Given the description of an element on the screen output the (x, y) to click on. 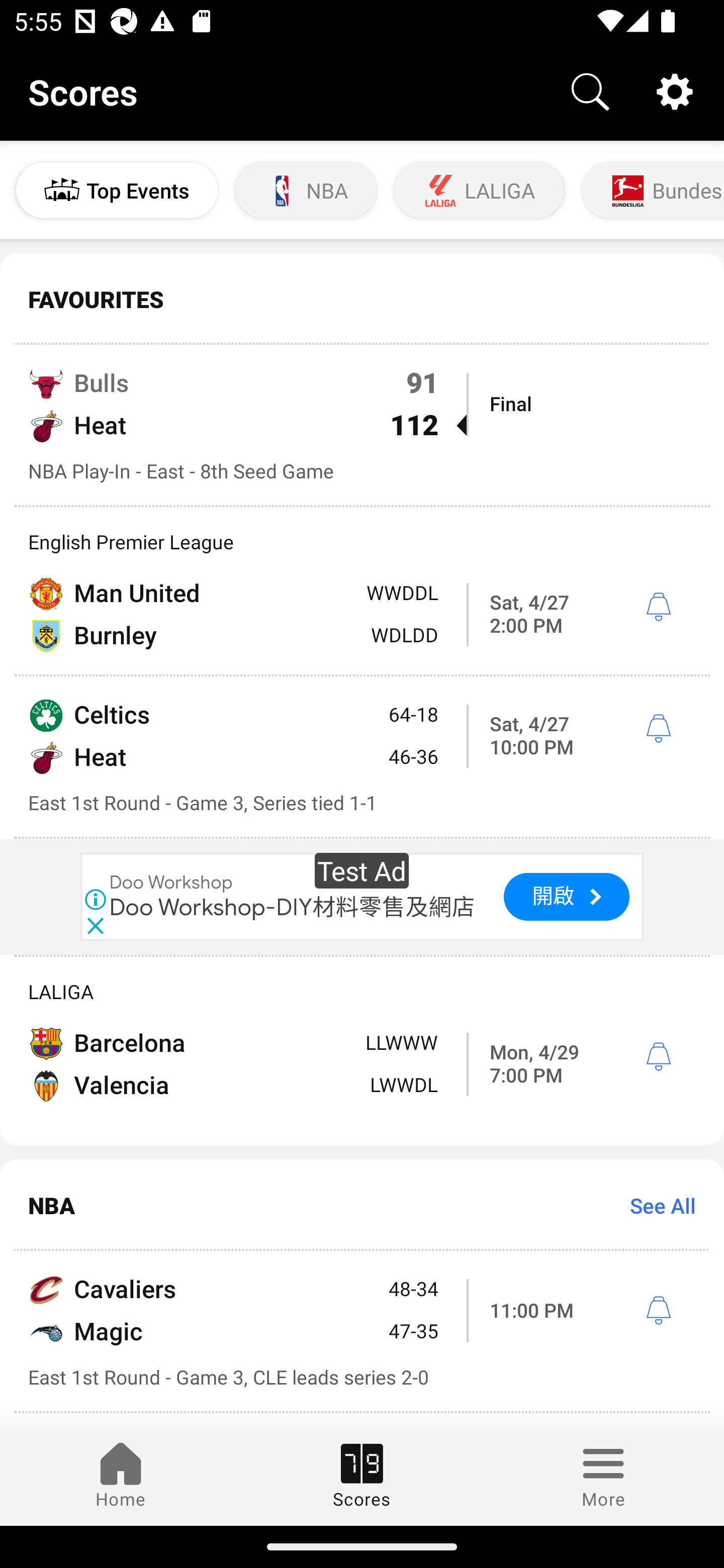
Search (590, 90)
Settings (674, 90)
 Top Events (116, 190)
NBA (305, 190)
LALIGA (478, 190)
Bundesliga (651, 190)
FAVOURITES (362, 299)
í (658, 606)
í (658, 728)
í (658, 1056)
NBA See All (362, 1204)
See All (655, 1205)
í (658, 1310)
Home (120, 1475)
More (603, 1475)
